Given the description of an element on the screen output the (x, y) to click on. 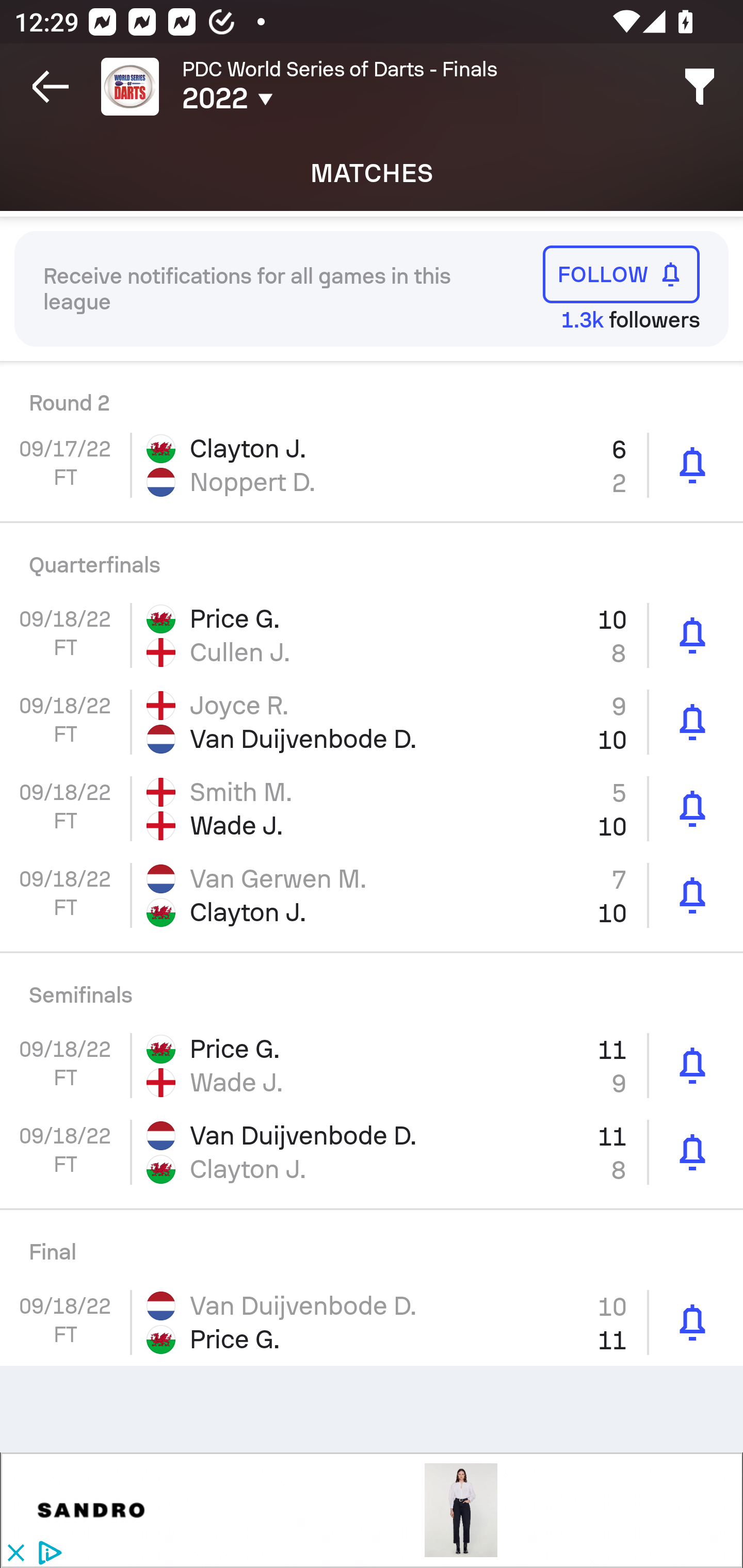
Navigate up (50, 86)
Find (699, 86)
2022 (300, 98)
FOLLOW (621, 274)
09/17/22 FT Smith M. 6 Wright P. 4 (371, 390)
09/17/22 FT Clayton J. 6 Noppert D. 2 (371, 464)
Quarterfinals (371, 557)
09/18/22 FT Price G. 10 Cullen J. 8 (371, 635)
09/18/22 FT Joyce R. 10 9 Van Duijvenbode D. (371, 721)
09/18/22 FT Smith M. 10 5 Wade J. (371, 808)
09/18/22 FT Van Gerwen M. 10 7 Clayton J. (371, 895)
Semifinals (371, 987)
09/18/22 FT Price G. 11 Wade J. 9 (371, 1065)
09/18/22 FT Van Duijvenbode D. 11 Clayton J. 8 (371, 1151)
Final (371, 1244)
09/18/22 FT Van Duijvenbode D. 10 Price G. 11 (371, 1322)
   (91, 1509)
   (461, 1510)
close_button (14, 1553)
privacy_small (47, 1553)
